Given the description of an element on the screen output the (x, y) to click on. 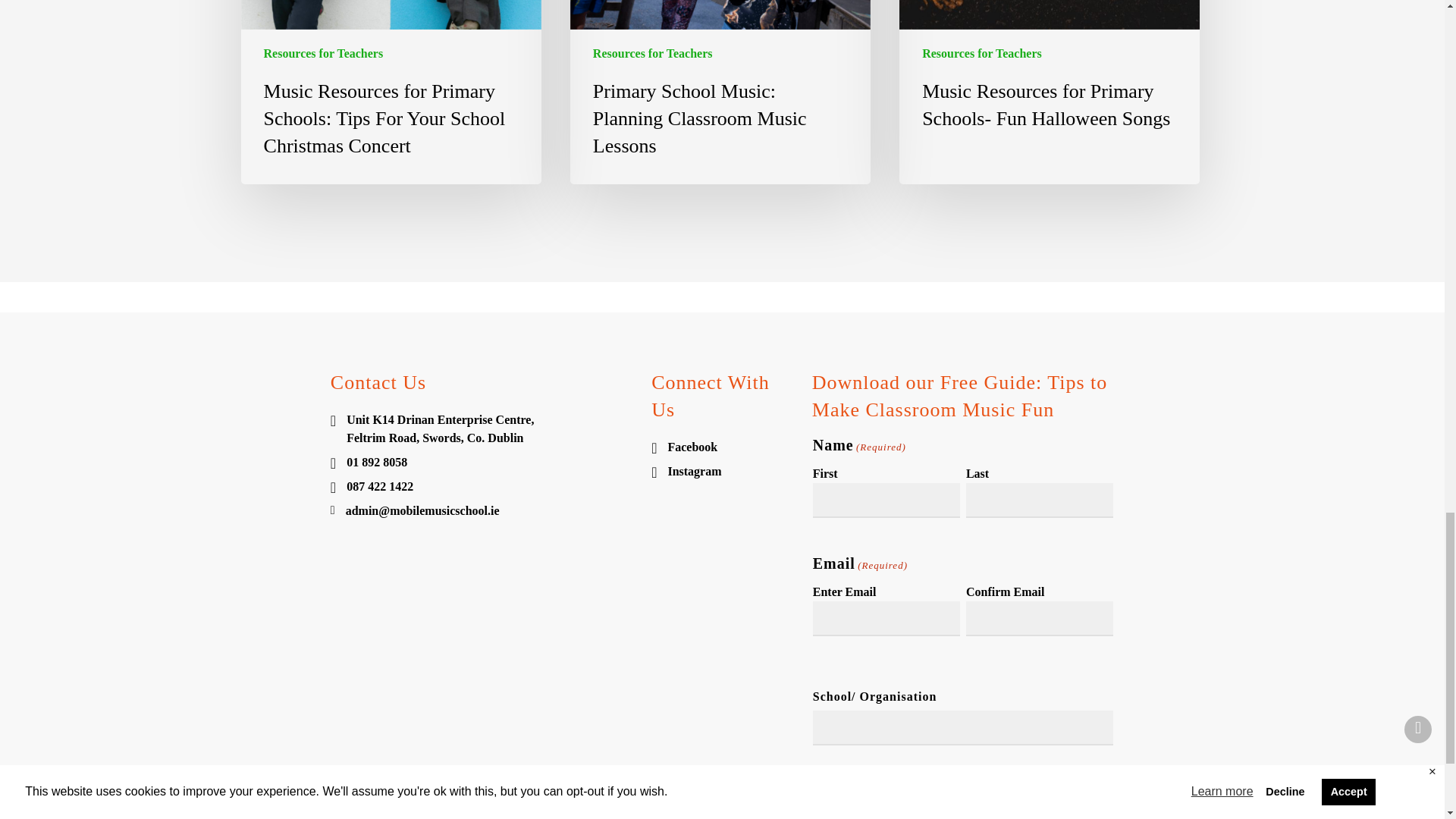
Phone (480, 486)
Facebook (721, 447)
Resources for Teachers (652, 54)
01 892 8058 (480, 462)
Phone (480, 462)
Resources for Teachers (981, 54)
087 422 1422 (480, 486)
Location (480, 429)
Instagram (721, 471)
Email (480, 511)
Resources for Teachers (323, 54)
